Given the description of an element on the screen output the (x, y) to click on. 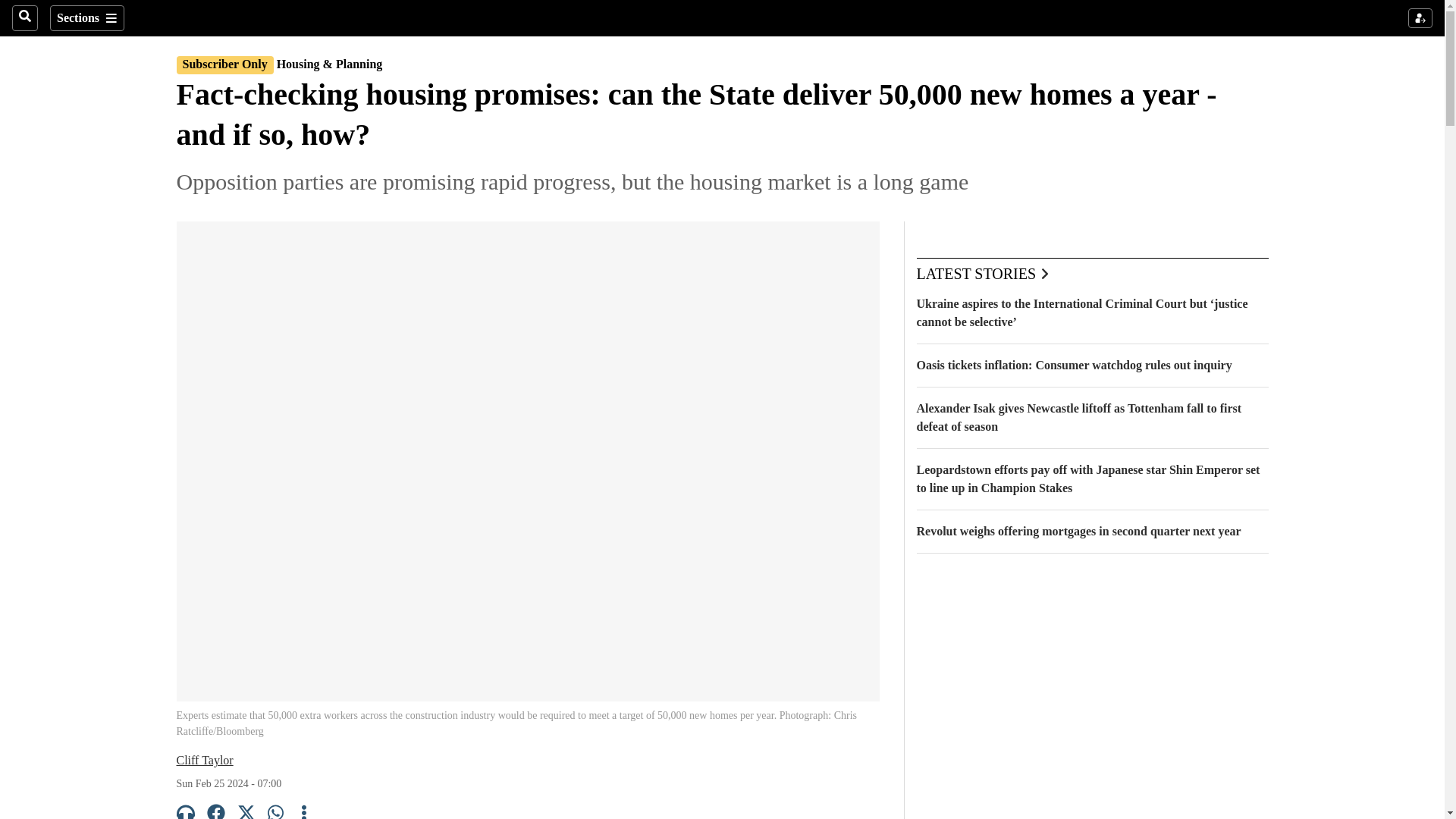
Facebook (215, 811)
X (244, 811)
WhatsApp (275, 811)
Sections (86, 17)
